Given the description of an element on the screen output the (x, y) to click on. 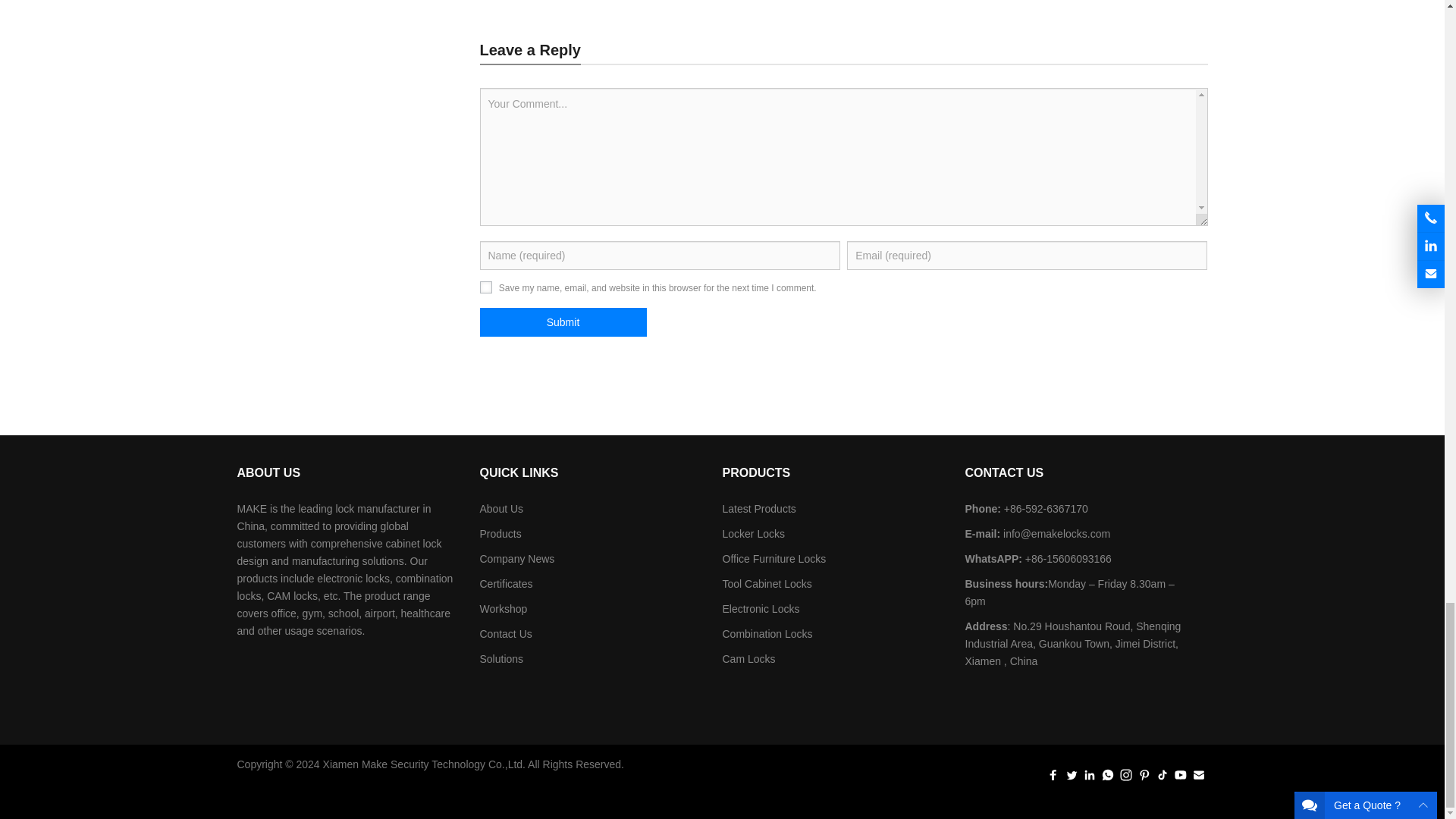
yes (485, 287)
Submit (562, 321)
